Given the description of an element on the screen output the (x, y) to click on. 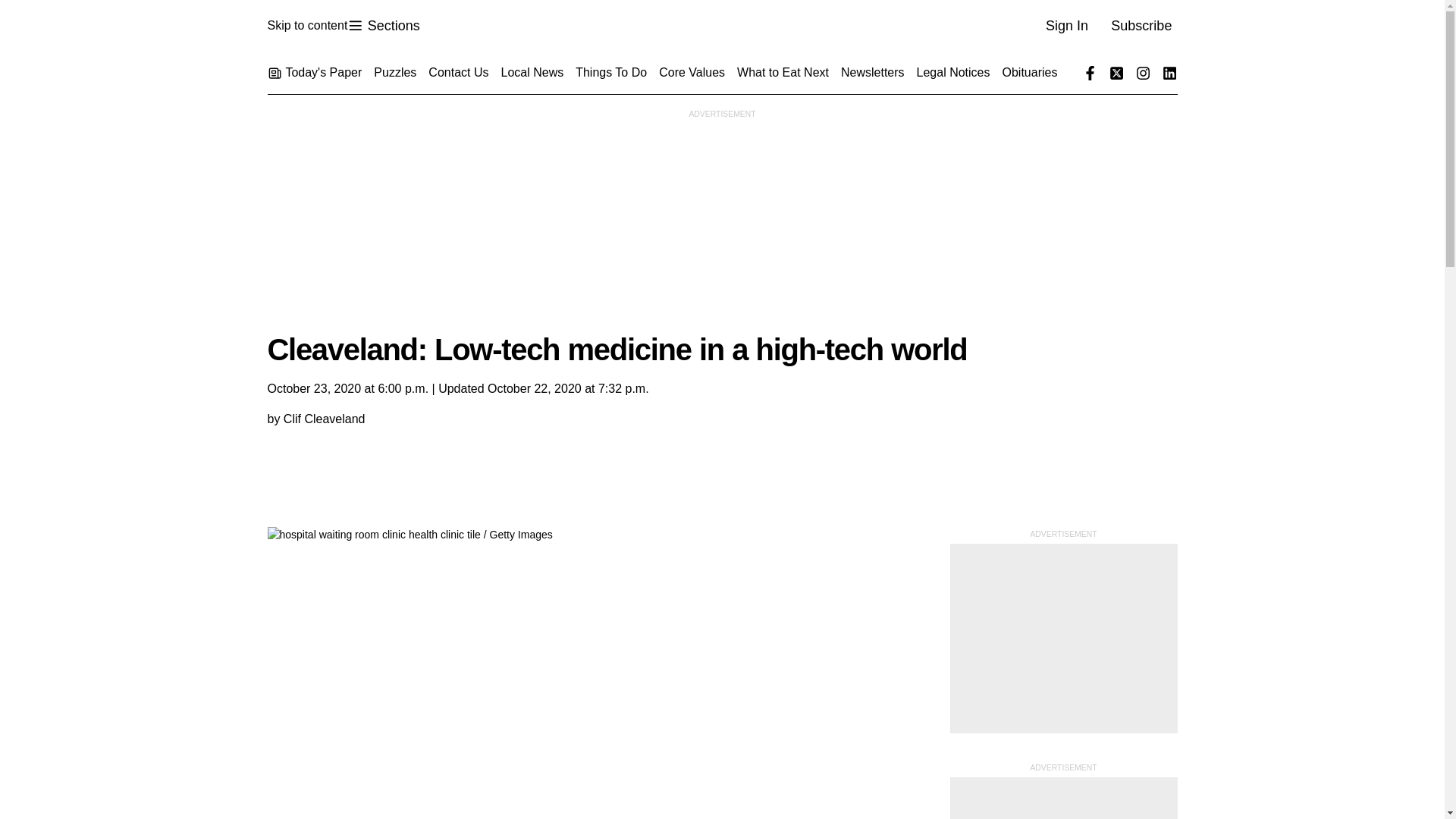
Skip to content (383, 25)
Times Free Press (306, 25)
